Given the description of an element on the screen output the (x, y) to click on. 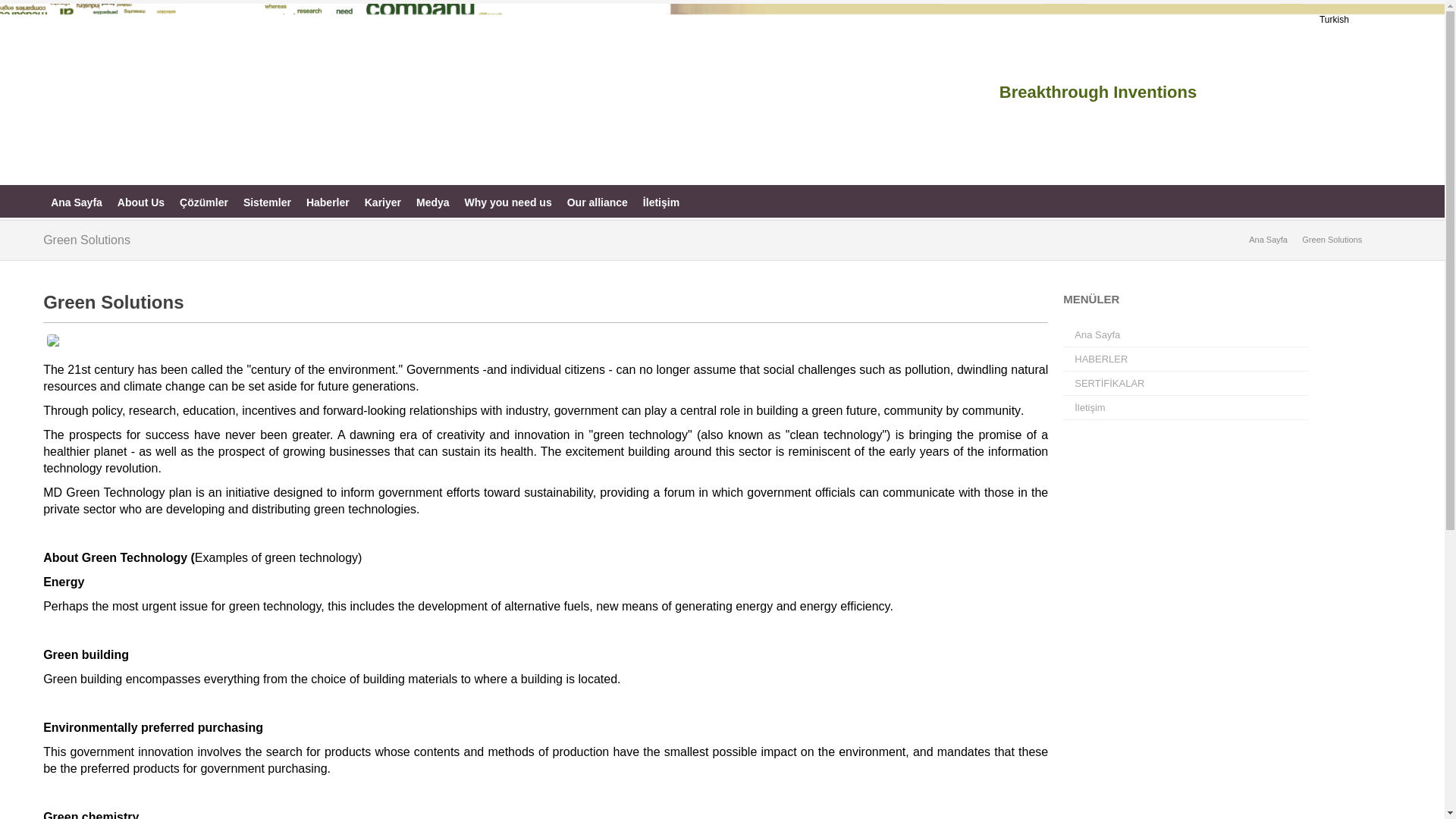
Ana Sayfa (76, 201)
Sistemler (266, 201)
Turkish (1334, 19)
English (1368, 19)
About Us (140, 201)
